Given the description of an element on the screen output the (x, y) to click on. 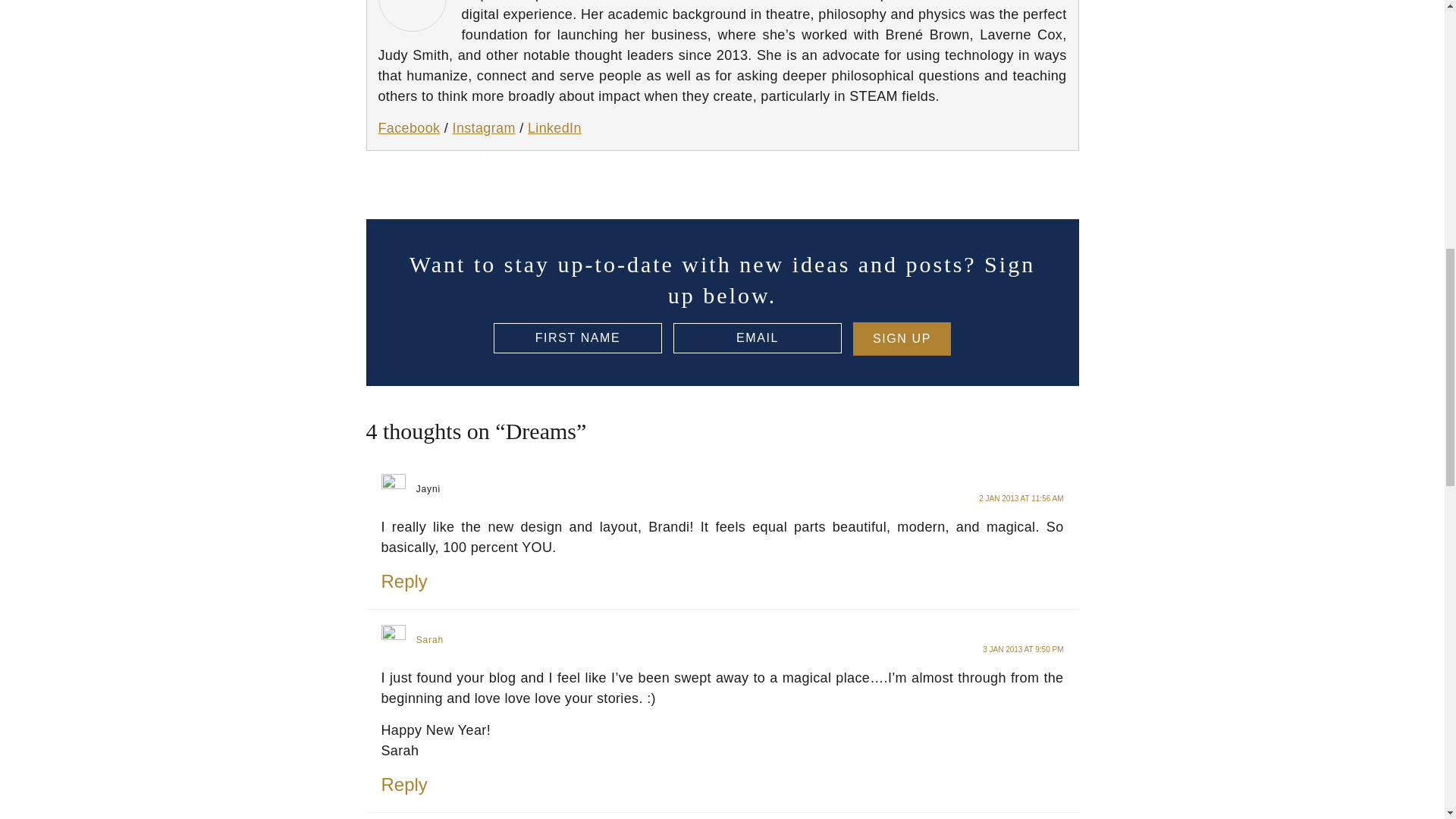
Reply (403, 580)
Reply (403, 783)
3 JAN 2013 AT 9:50 PM (1022, 649)
Facebook (408, 127)
LinkedIn (553, 127)
Sign Up (901, 338)
Sign Up (901, 338)
Sarah (430, 639)
2 JAN 2013 AT 11:56 AM (1020, 498)
Instagram (483, 127)
